Given the description of an element on the screen output the (x, y) to click on. 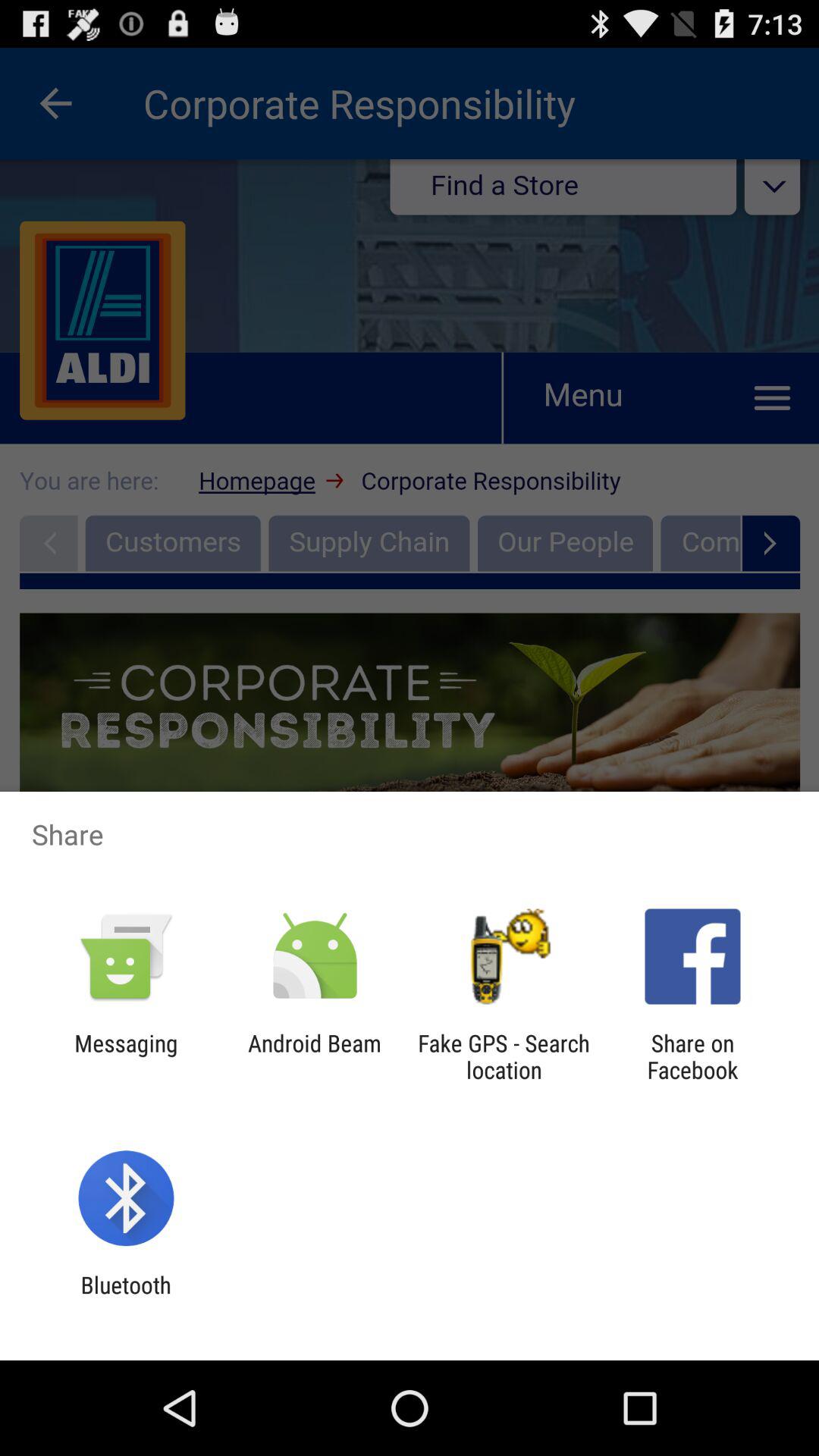
launch item next to the android beam icon (503, 1056)
